Given the description of an element on the screen output the (x, y) to click on. 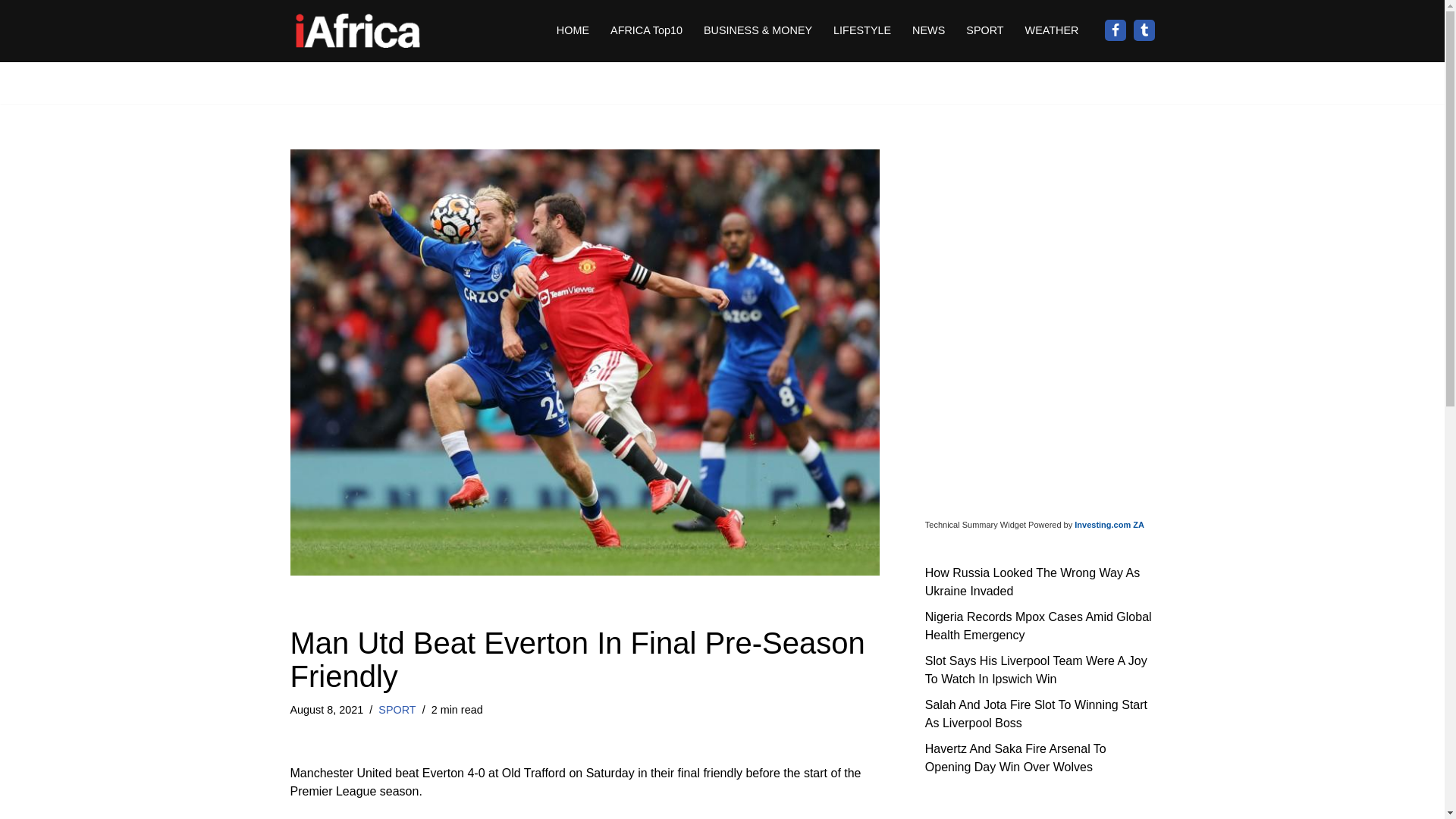
Nigeria Records Mpox Cases Amid Global Health Emergency (1037, 624)
SPORT (984, 30)
Salah And Jota Fire Slot To Winning Start As Liverpool Boss (1035, 712)
Facebook (1114, 29)
How Russia Looked The Wrong Way As Ukraine Invaded (1032, 581)
Havertz And Saka Fire Arsenal To Opening Day Win Over Wolves (1015, 757)
Skip to content (11, 31)
WEATHER (1051, 30)
HOME (572, 30)
Twitter (1143, 29)
